Given the description of an element on the screen output the (x, y) to click on. 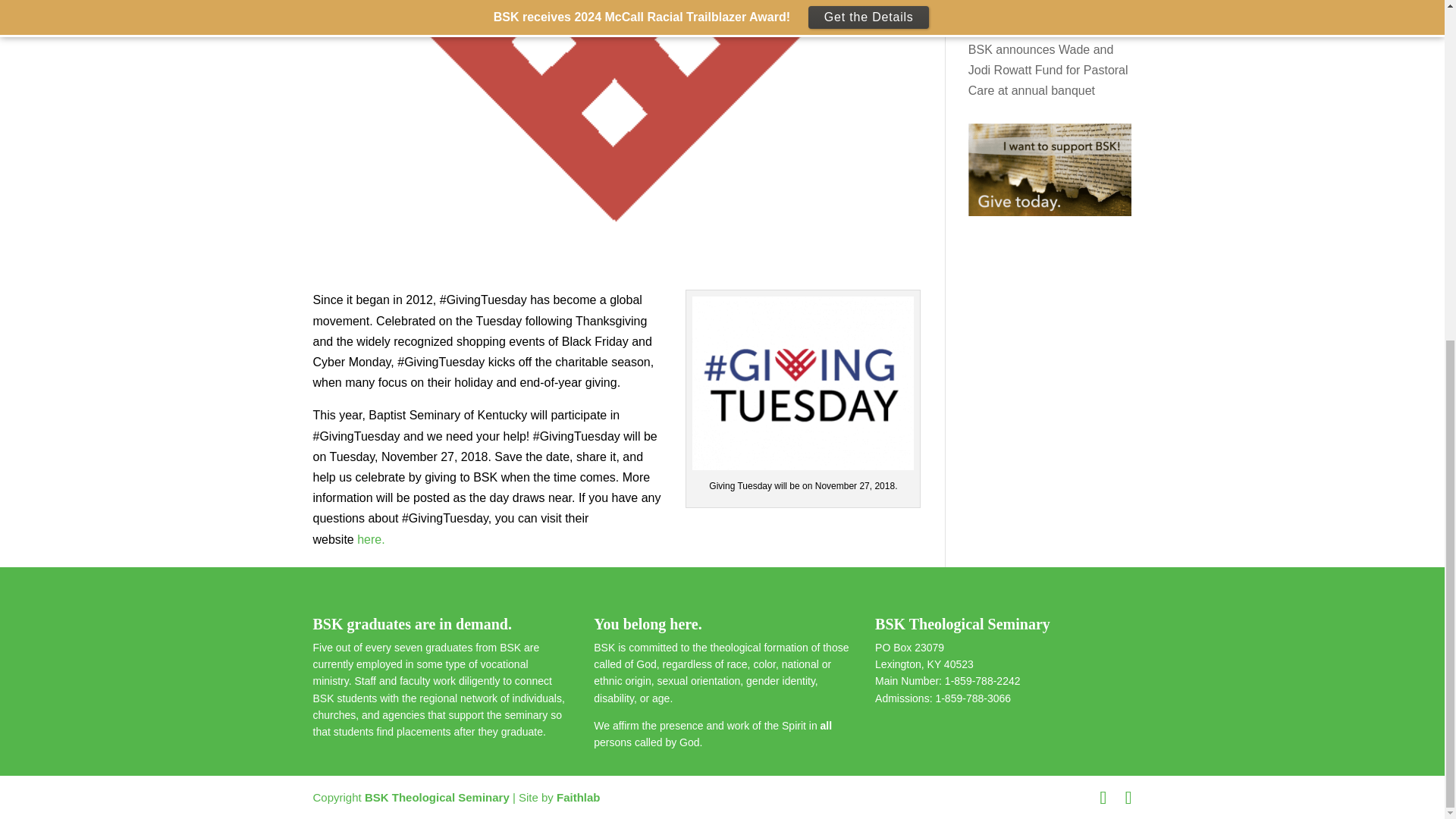
Faithlab (577, 797)
